Given the description of an element on the screen output the (x, y) to click on. 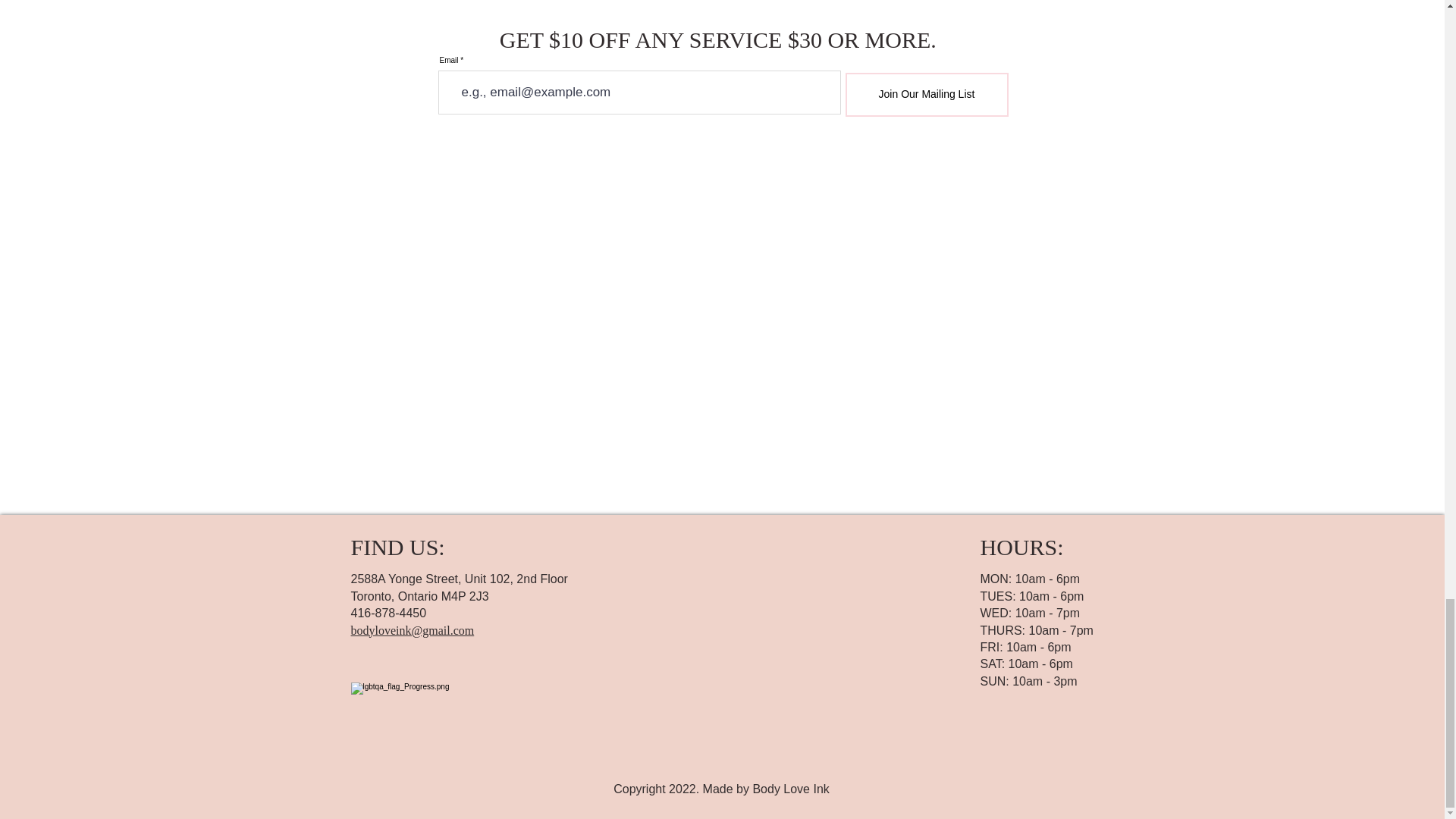
Join Our Mailing List (925, 94)
